Given the description of an element on the screen output the (x, y) to click on. 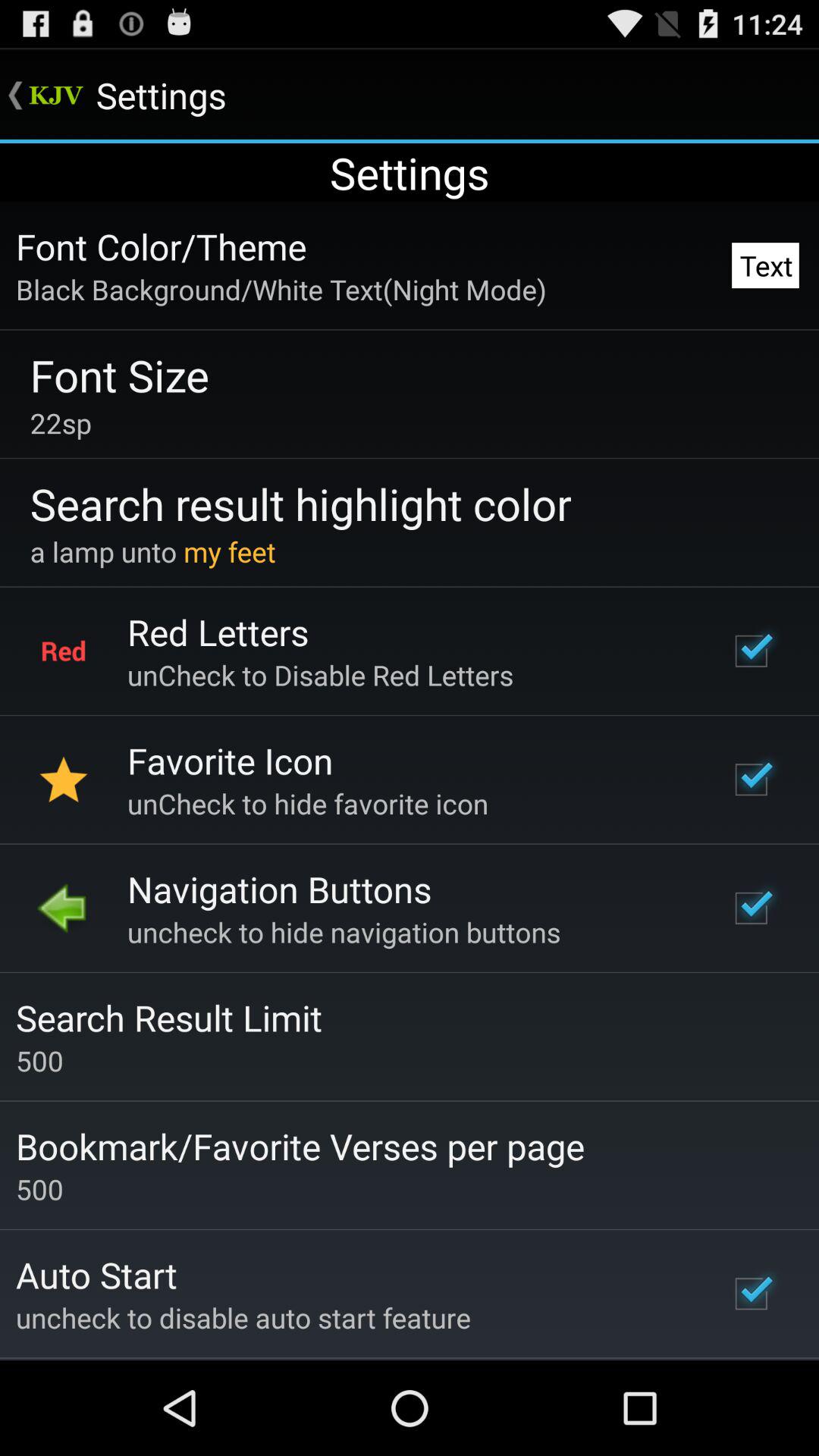
tap icon above search result highlight app (60, 422)
